Given the description of an element on the screen output the (x, y) to click on. 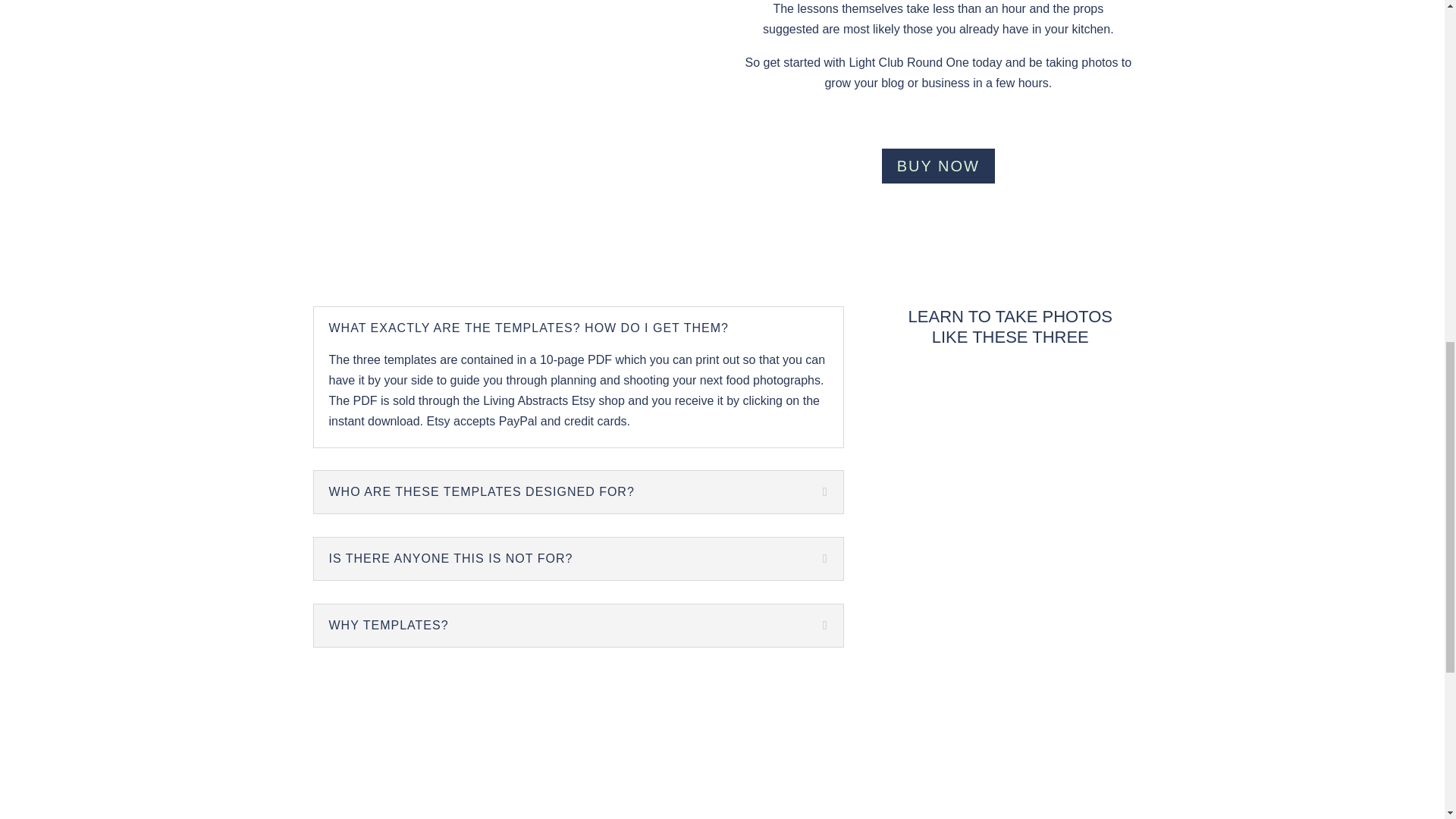
BUY NOW (938, 165)
